Given the description of an element on the screen output the (x, y) to click on. 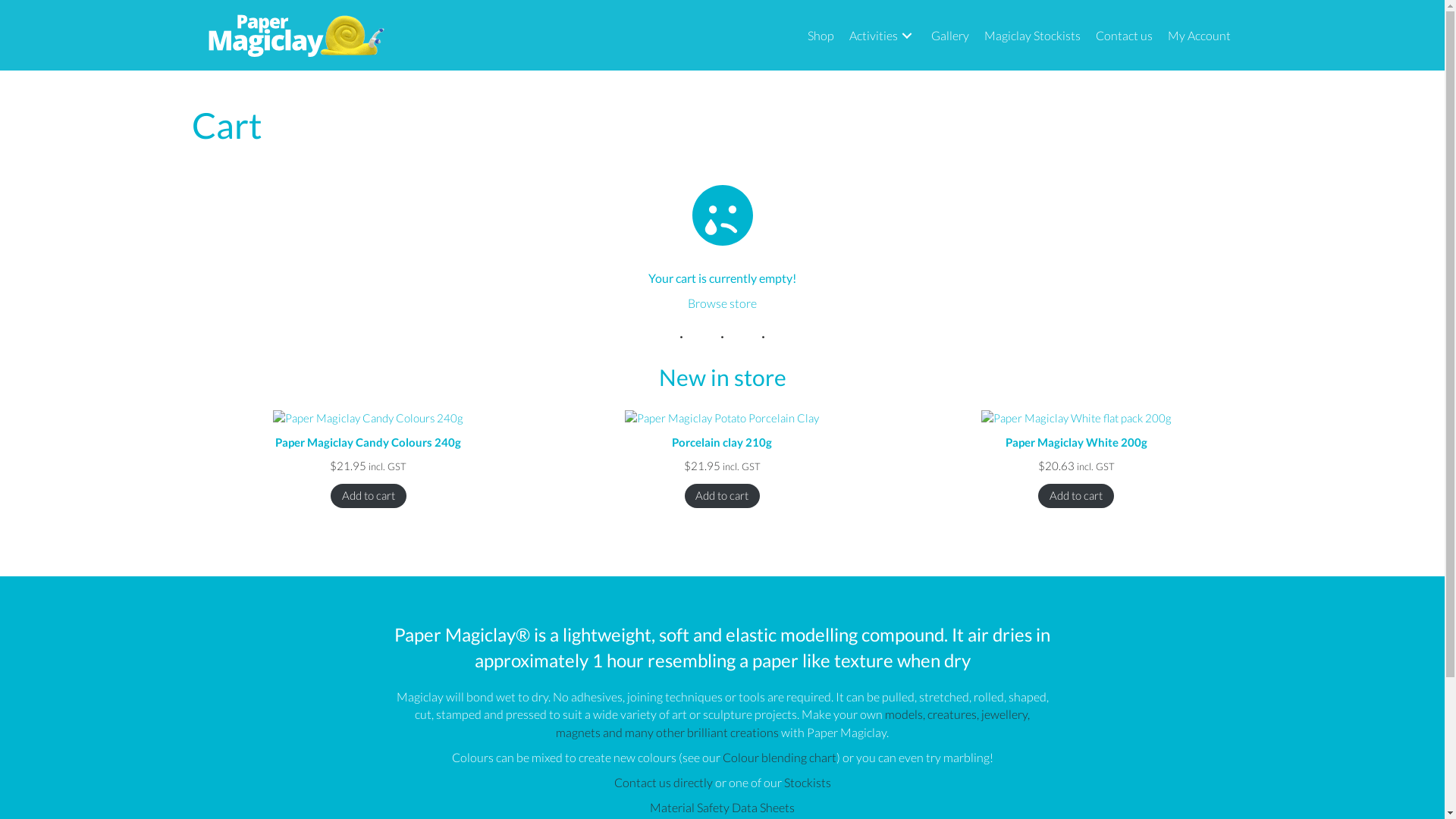
Material Safety Data Sheets Element type: text (721, 807)
Contact us Element type: text (1123, 34)
Browse store Element type: text (721, 302)
Add to cart Element type: text (367, 495)
Contact us directly Element type: text (663, 782)
Porcelain clay 210g Element type: text (722, 429)
Magiclay Stockists Element type: text (1032, 34)
Stockists Element type: text (807, 782)
Add to cart Element type: text (1075, 495)
Paper Magiclay Candy Colours 240g Element type: text (368, 429)
Add to cart Element type: text (721, 495)
Colour blending chart Element type: text (778, 756)
Paper Magiclay White 200g Element type: text (1076, 429)
Shop Element type: text (819, 34)
Activities Element type: text (882, 34)
My Account Element type: text (1199, 34)
Gallery Element type: text (949, 34)
Magiclay-logo-small-reversed.png Element type: hover (295, 35)
